Given the description of an element on the screen output the (x, y) to click on. 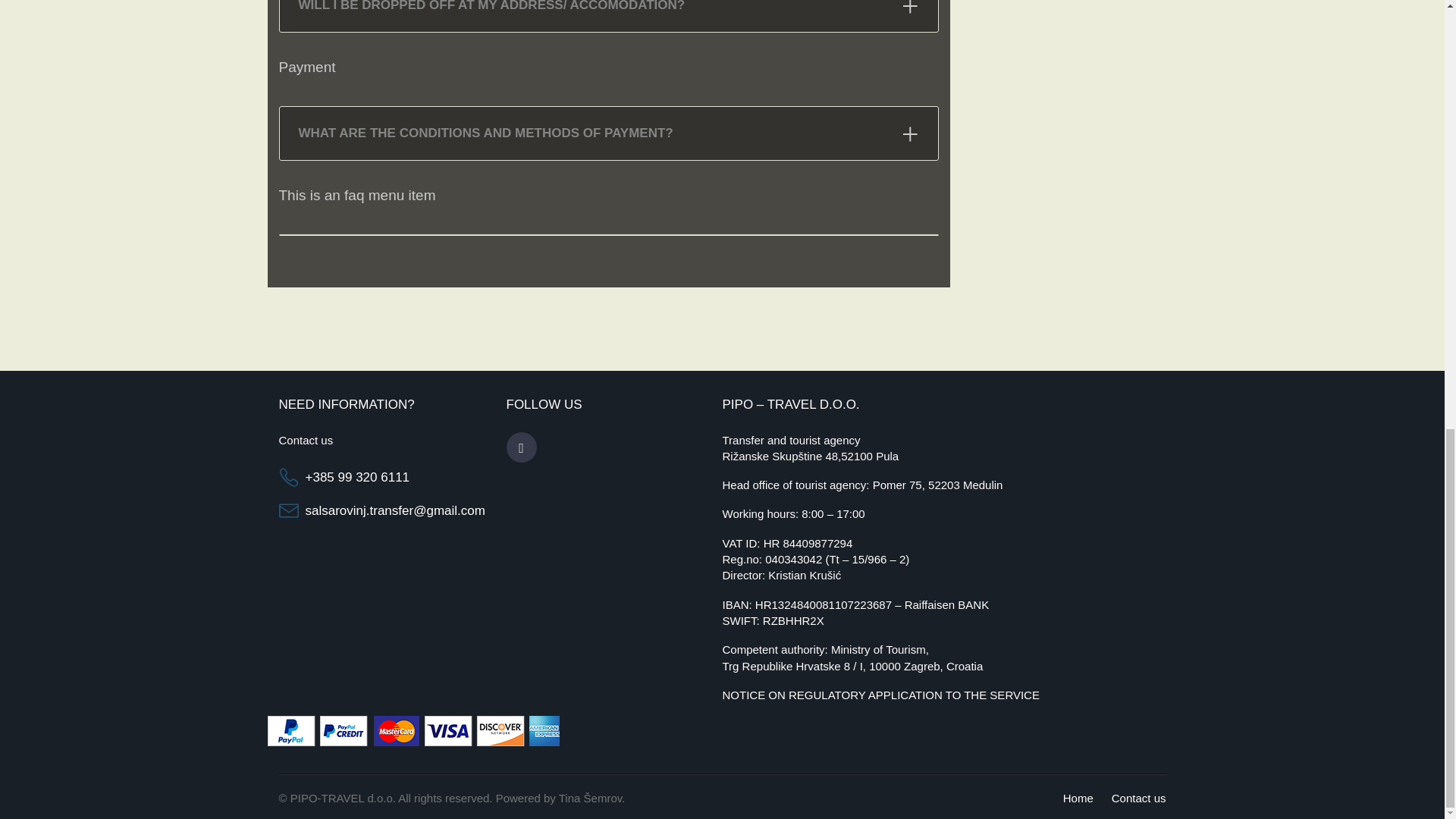
facebook (521, 448)
NOTICE ON REGULATORY APPLICATION TO THE SERVICE (880, 694)
Home (1077, 797)
Contact us (1139, 797)
